Given the description of an element on the screen output the (x, y) to click on. 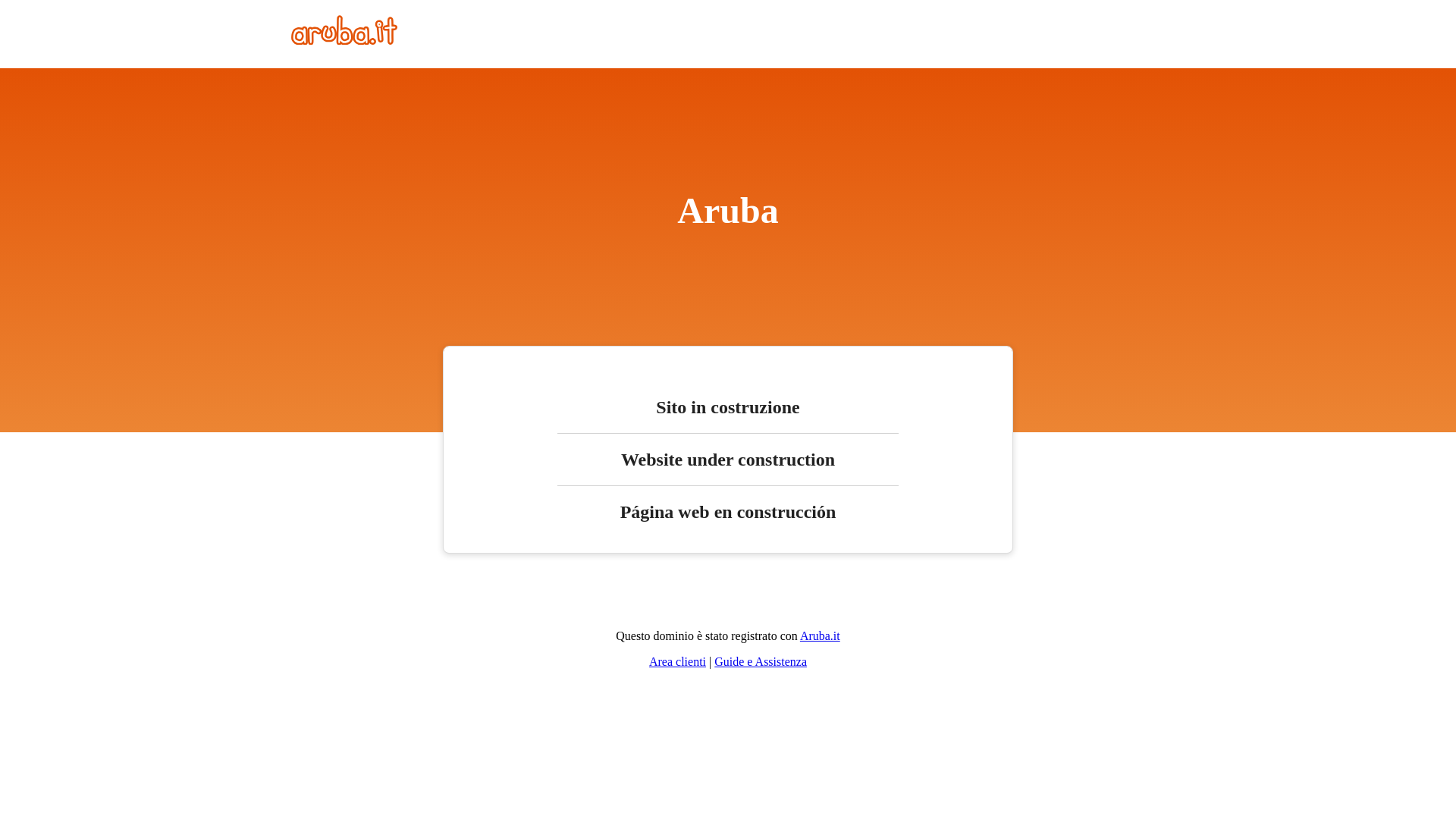
Guide e Assistenza (760, 661)
Home (344, 40)
Aruba.it (819, 635)
Area clienti (677, 661)
